Given the description of an element on the screen output the (x, y) to click on. 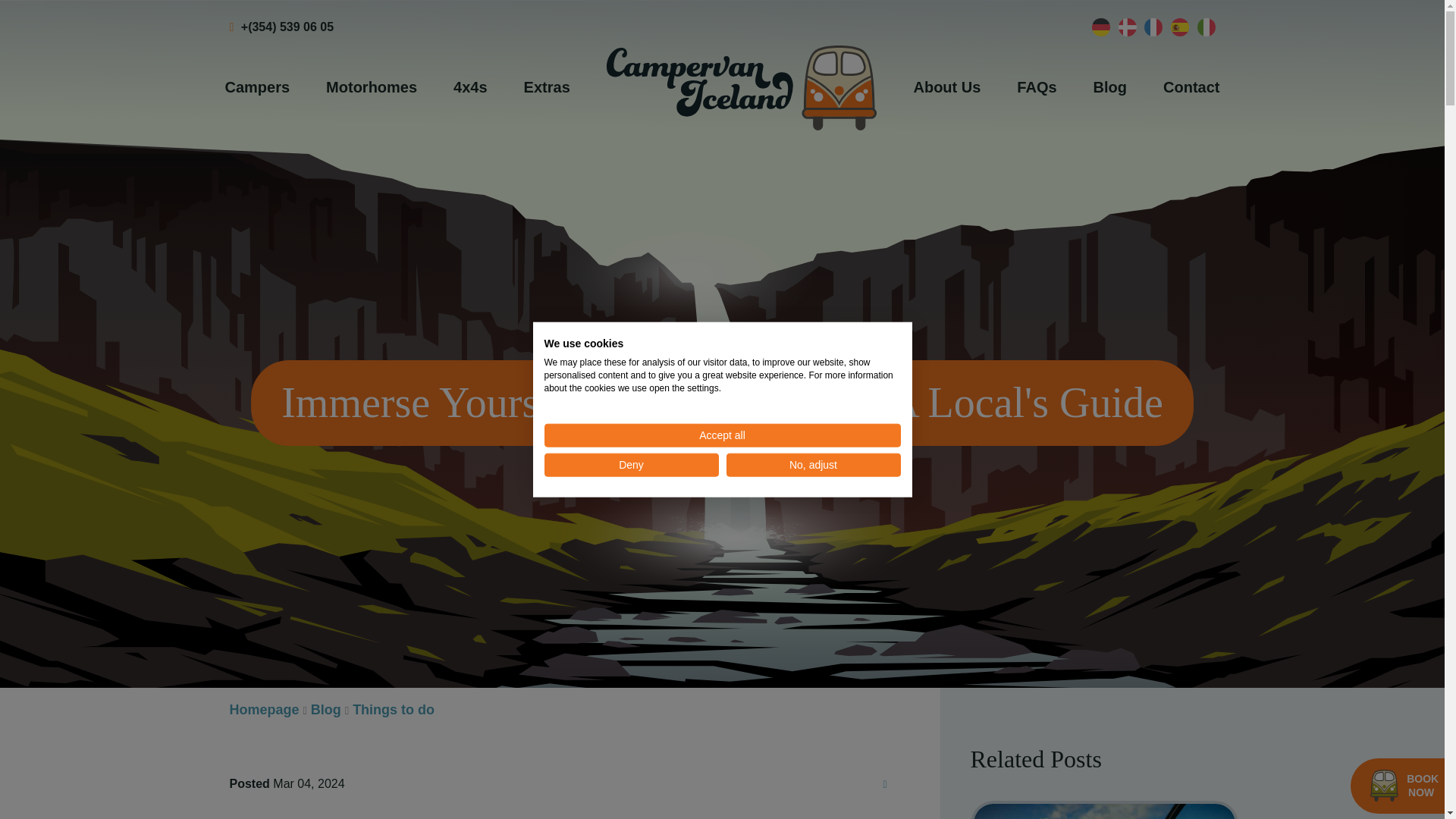
Contact (1190, 85)
4x4s (470, 85)
FAQs (1036, 85)
Motorhomes (371, 85)
Things to do (392, 709)
Homepage (263, 709)
Blog (325, 709)
About Us (946, 85)
Extras (546, 85)
Blog (1109, 85)
